Given the description of an element on the screen output the (x, y) to click on. 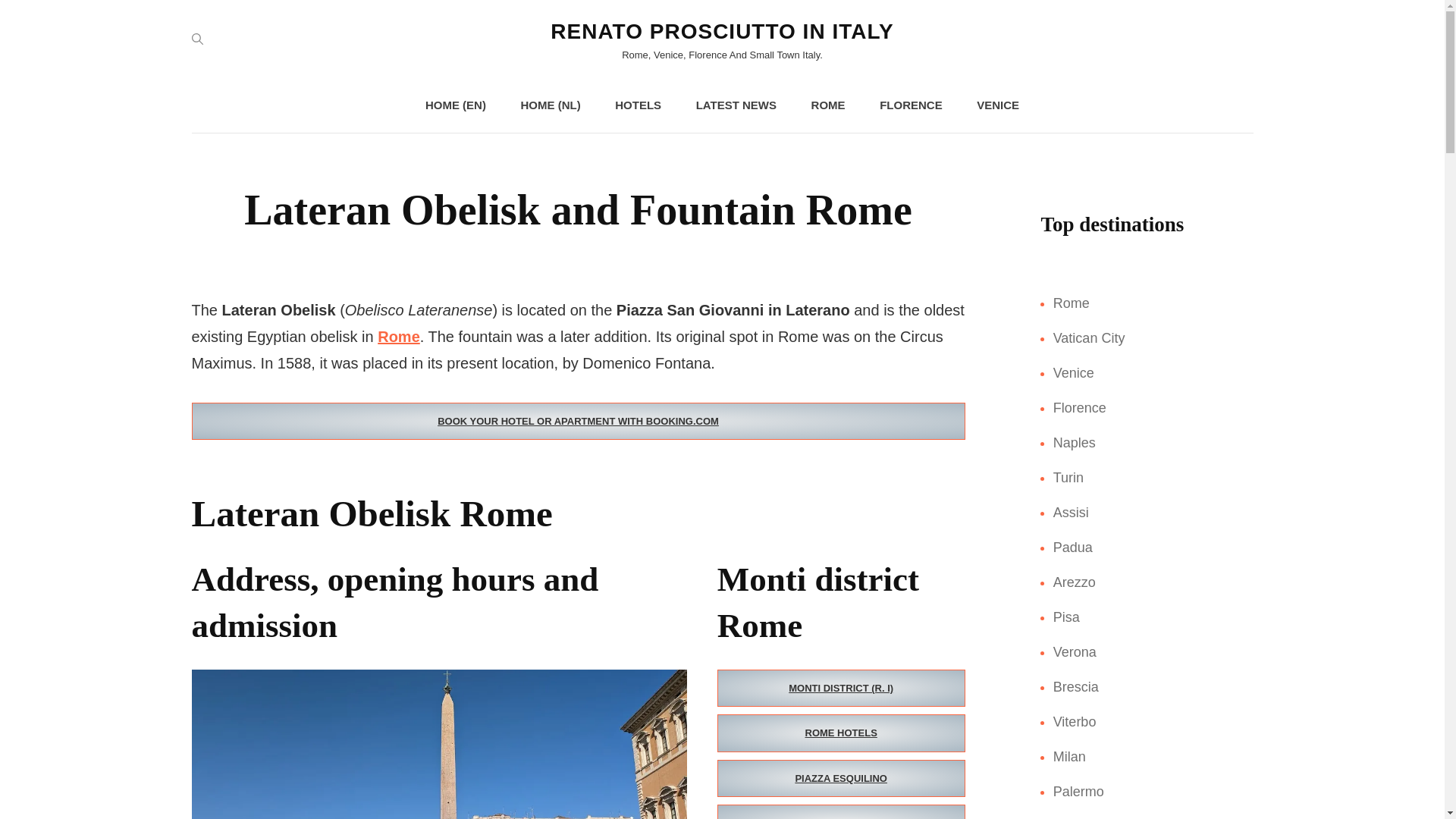
PIAZZA ESQUILINO (841, 778)
ROME (828, 104)
VENICE (996, 104)
ROME HOTELS (841, 733)
LATEST NEWS (736, 104)
Rome (398, 336)
HOTELS (638, 104)
RENATO PROSCIUTTO IN ITALY (721, 31)
BOOK YOUR HOTEL OR APARTMENT WITH BOOKING.COM (576, 421)
FLORENCE (911, 104)
